Given the description of an element on the screen output the (x, y) to click on. 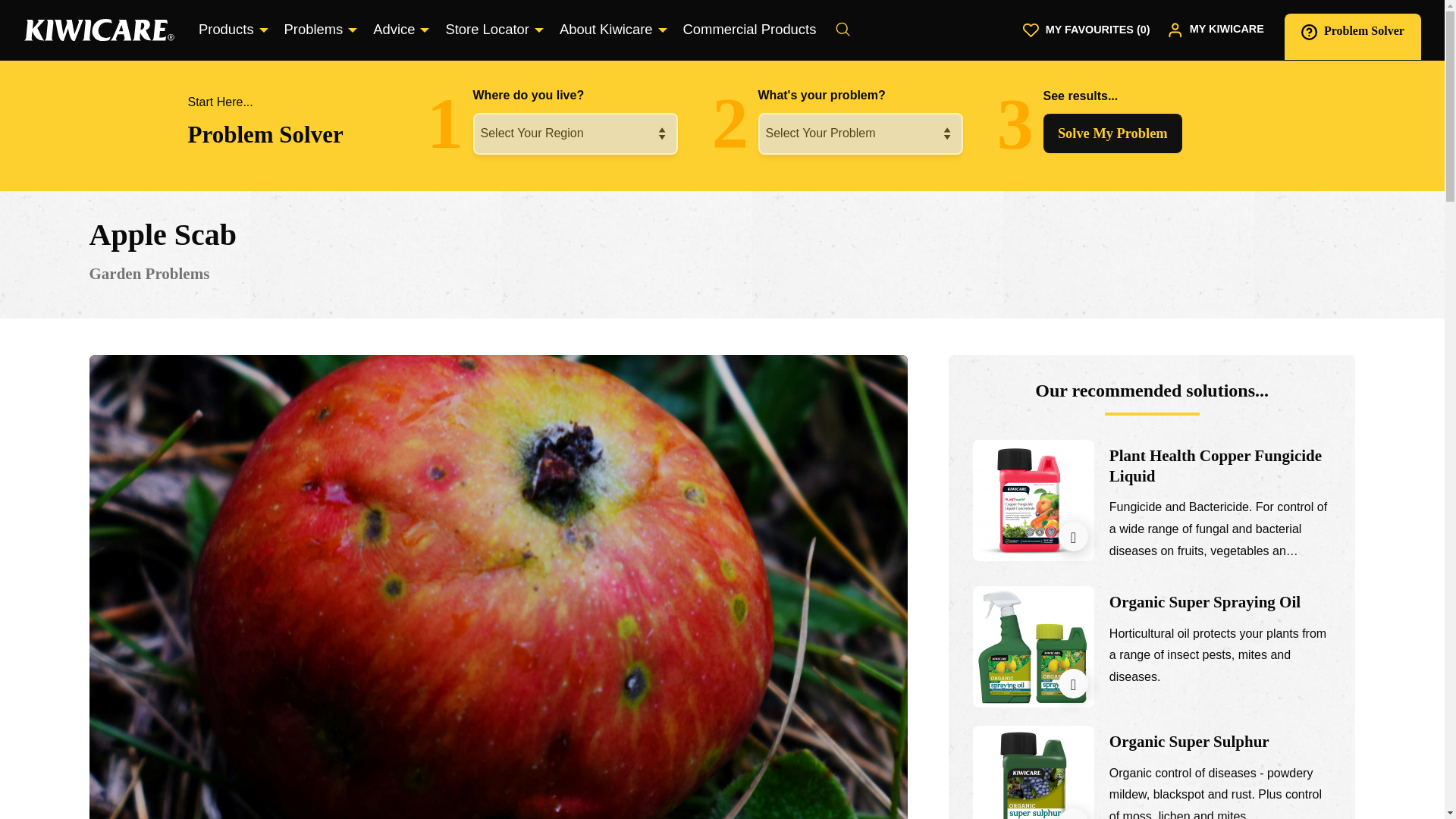
Solve My Problem (1112, 133)
Products (229, 29)
